Given the description of an element on the screen output the (x, y) to click on. 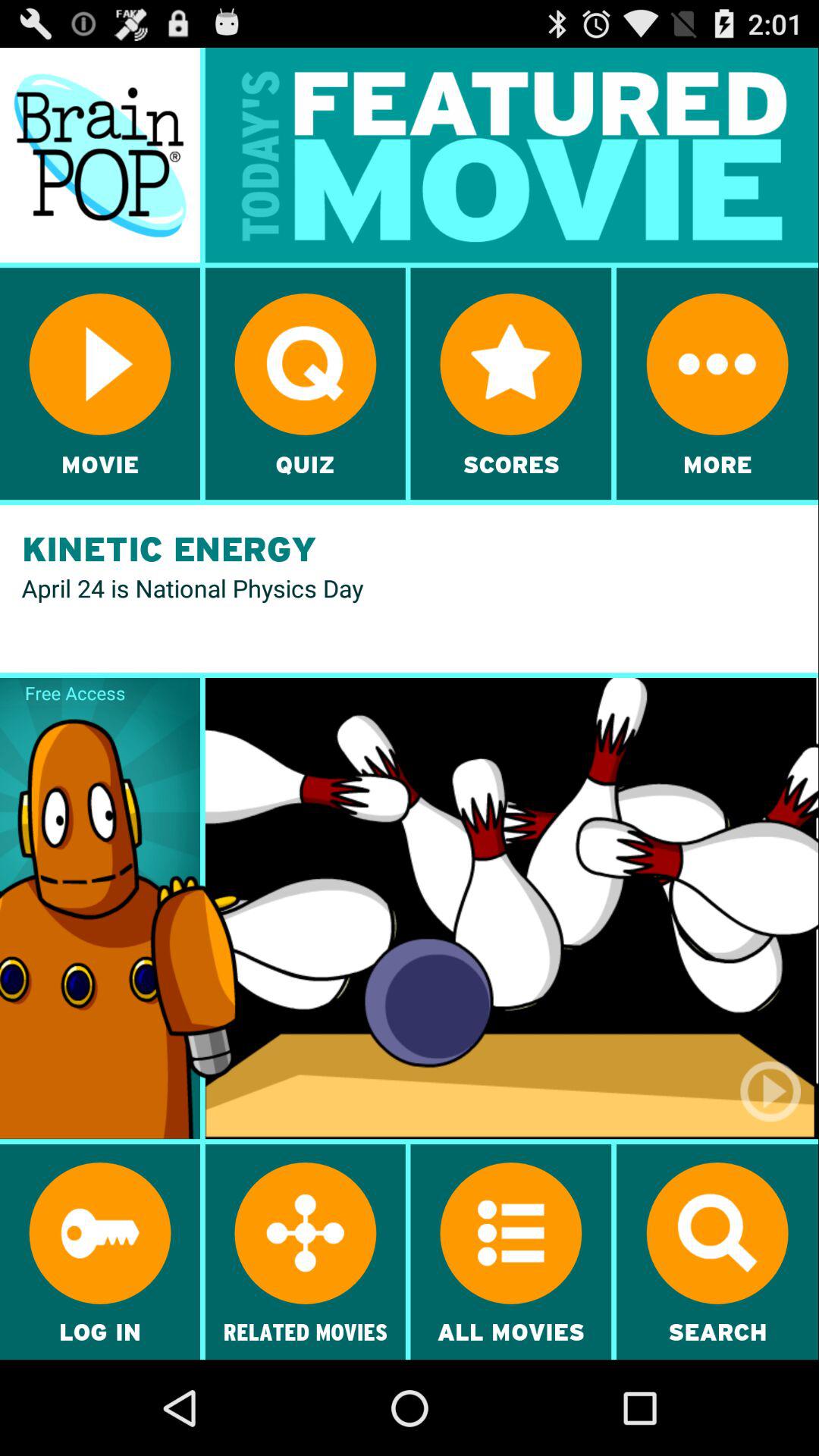
go to the homepage (100, 154)
